Given the description of an element on the screen output the (x, y) to click on. 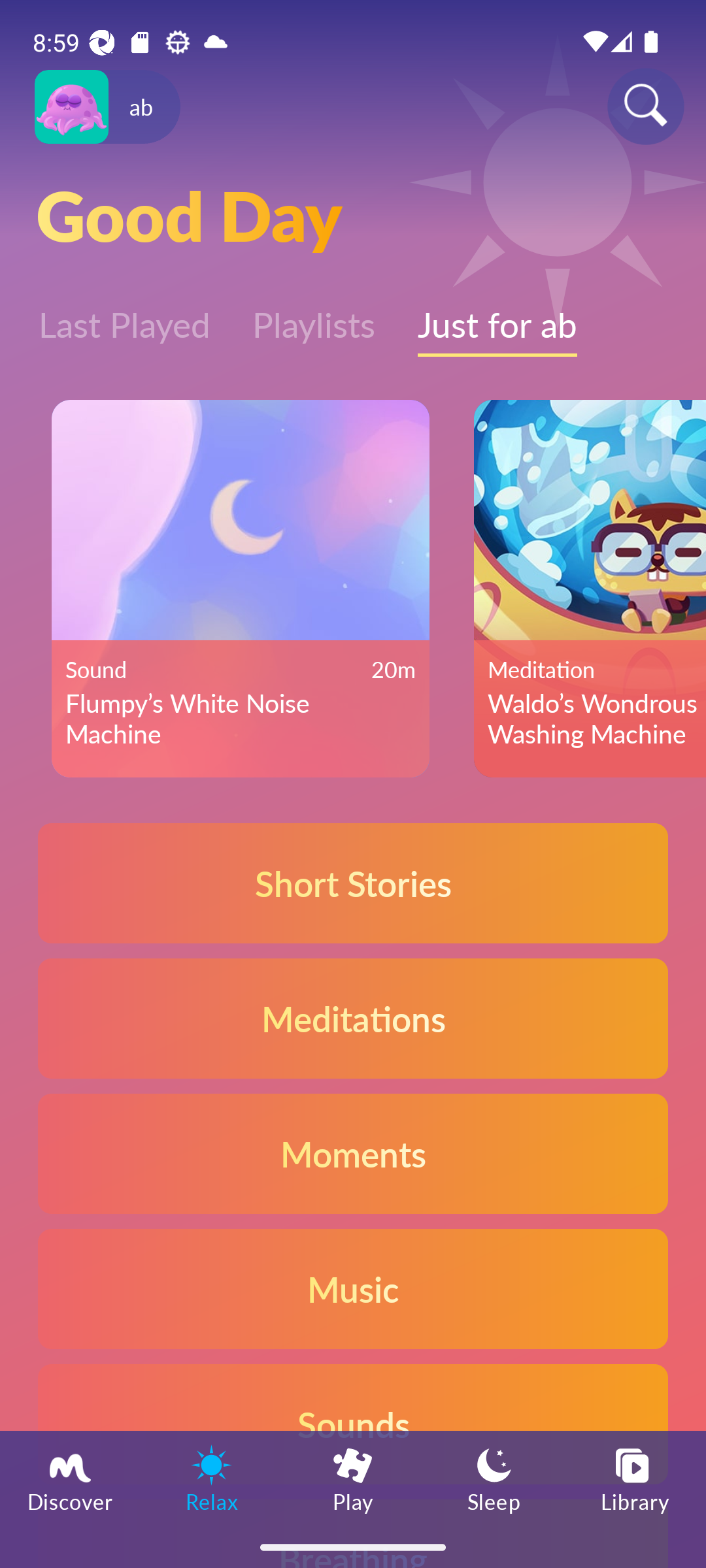
Profile icon ab (107, 107)
Last Played (123, 315)
Playlists (313, 315)
Short Stories (352, 883)
Meditations (352, 1017)
Moments (352, 1152)
Music (352, 1288)
Discover (70, 1478)
Play (352, 1478)
Sleep (493, 1478)
Library (635, 1478)
